Given the description of an element on the screen output the (x, y) to click on. 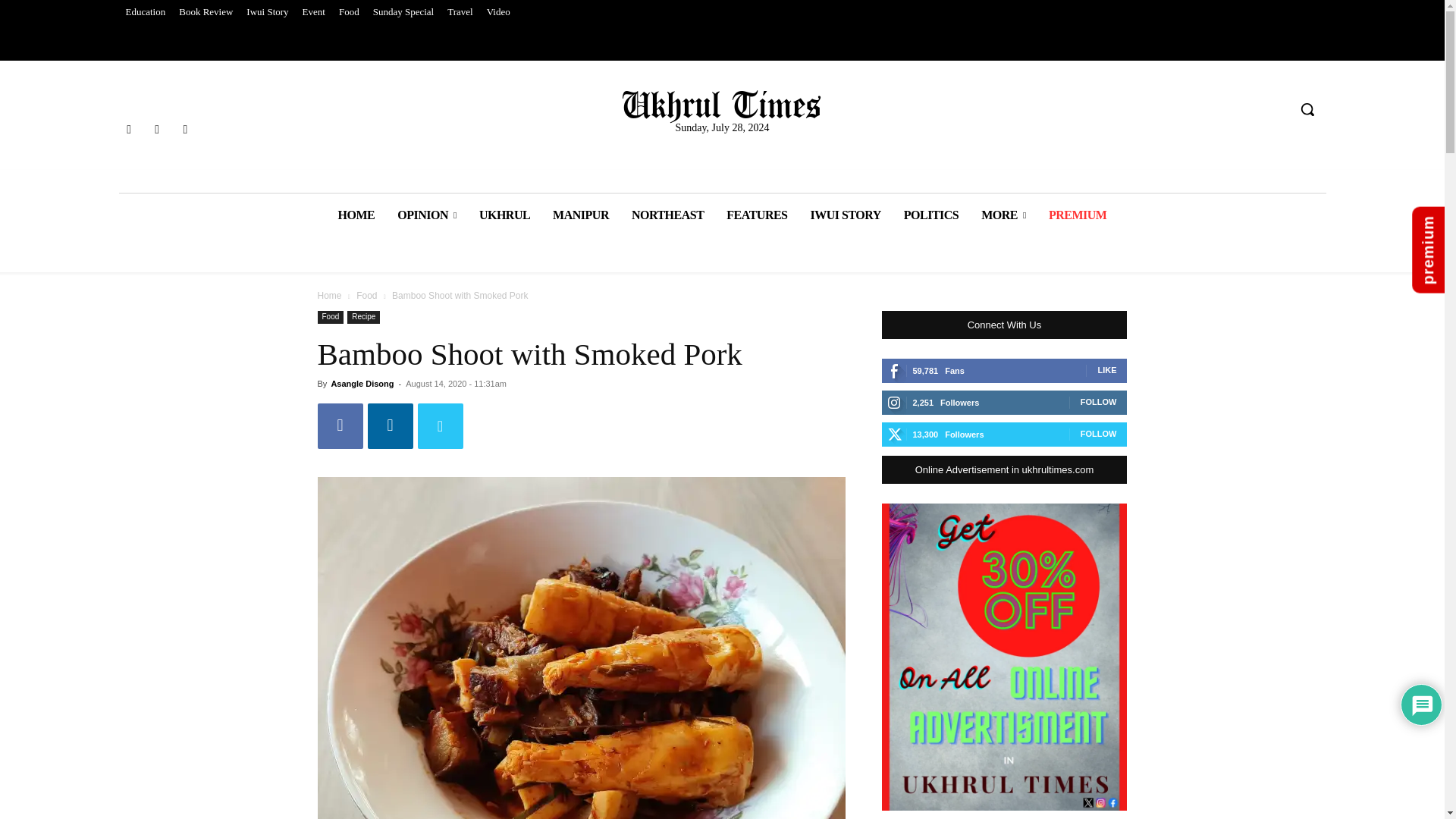
Twitter (439, 425)
Twitter (184, 128)
OPINION (426, 214)
HOME (356, 214)
Travel (460, 12)
Instagram (157, 128)
Iwui Story (267, 12)
Facebook (339, 425)
Food (348, 12)
Sunday Special (403, 12)
Video (498, 12)
Education (144, 12)
Book Review (205, 12)
Linkedin (389, 425)
